Given the description of an element on the screen output the (x, y) to click on. 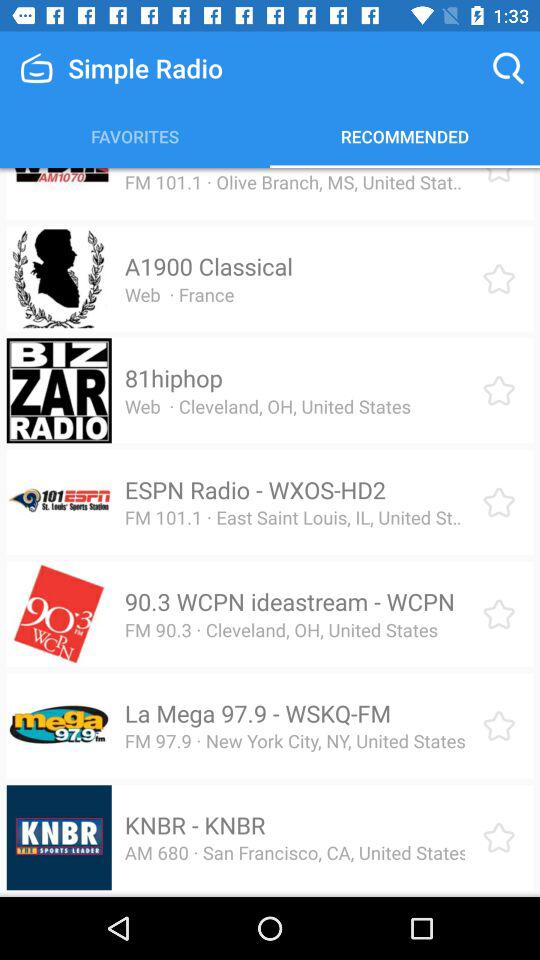
scroll to the knbr - knbr icon (194, 825)
